Given the description of an element on the screen output the (x, y) to click on. 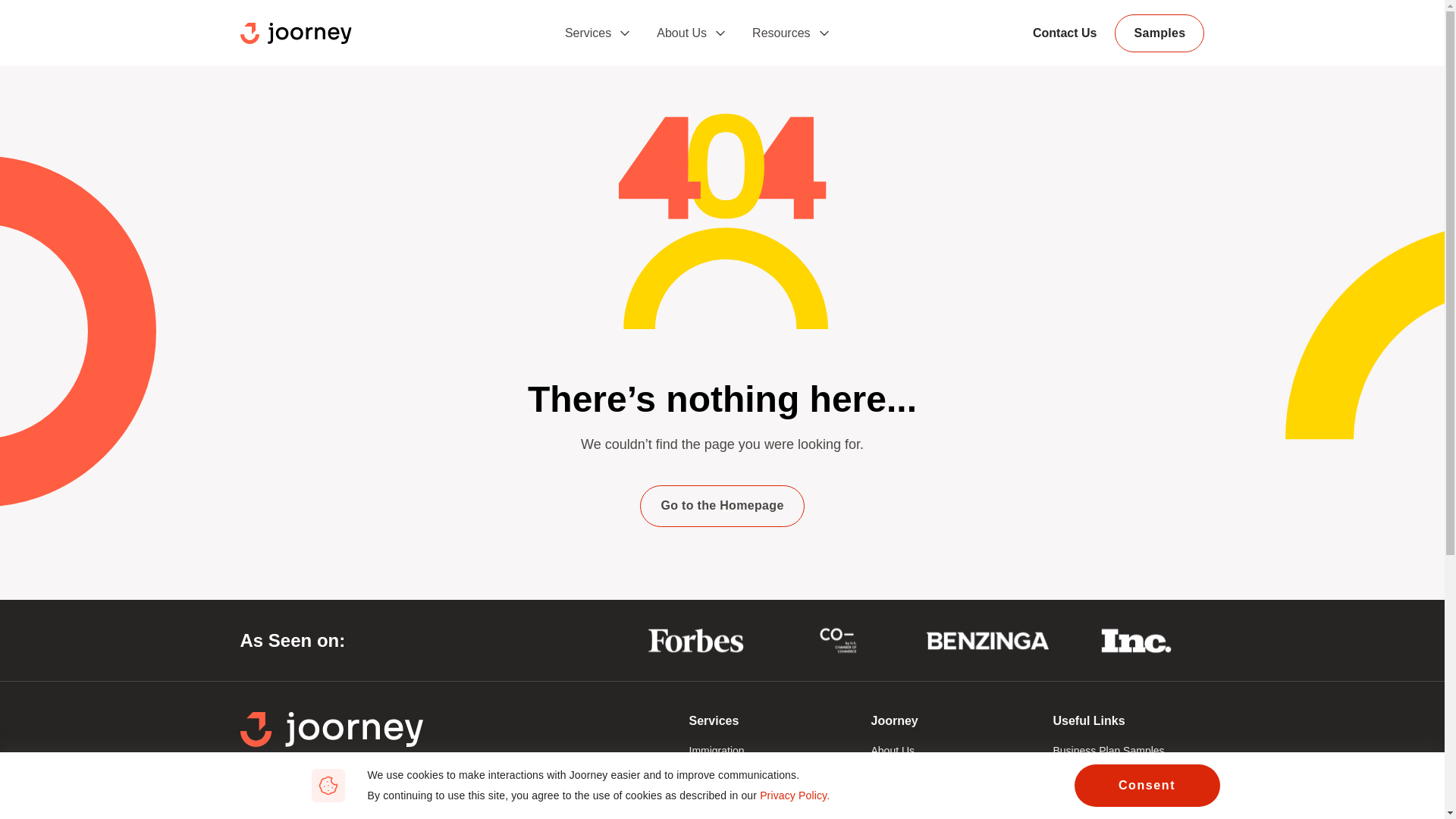
Consent (1147, 785)
logo (295, 33)
Privacy Policy. (794, 795)
